Given the description of an element on the screen output the (x, y) to click on. 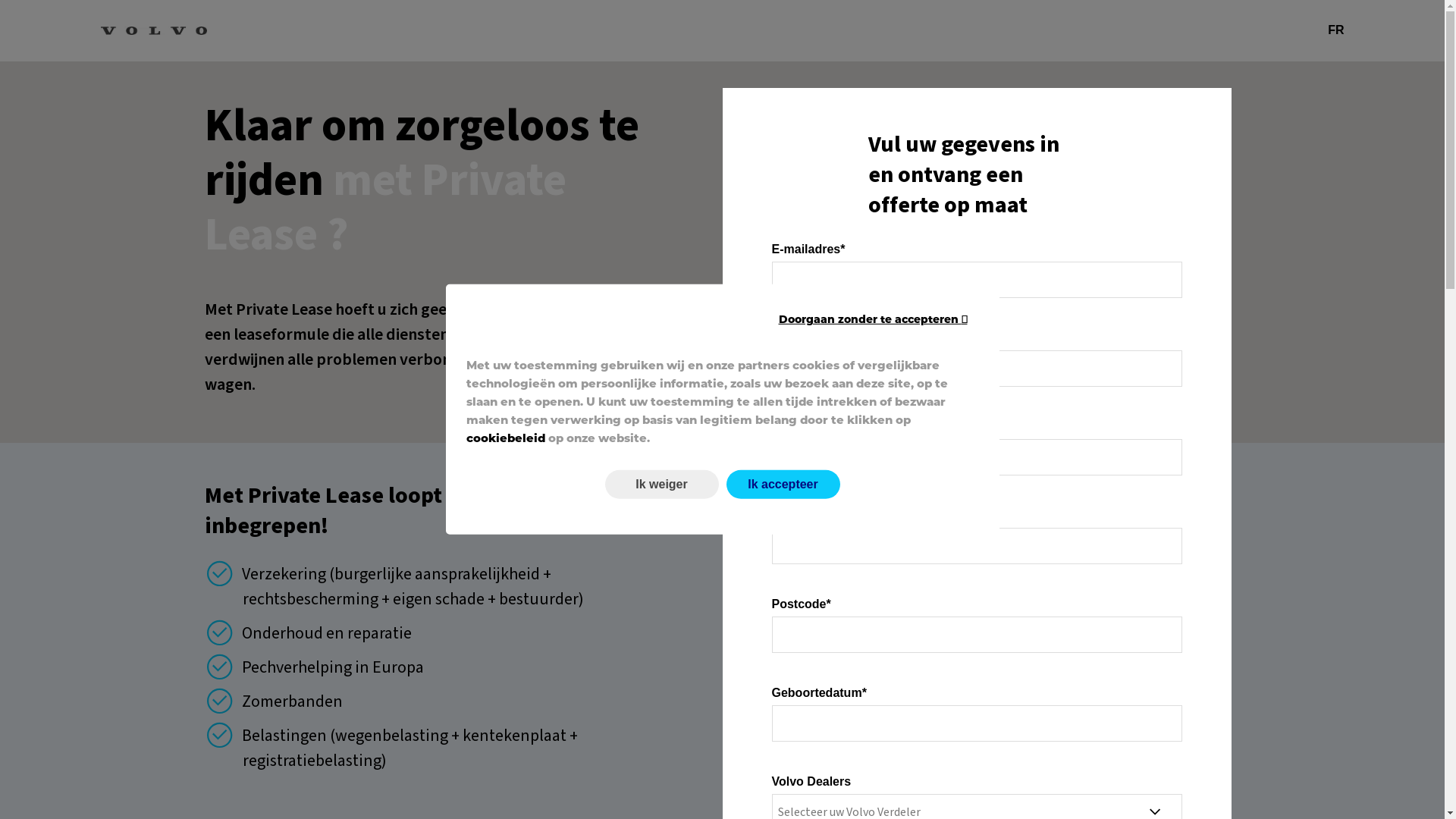
FR Element type: text (1335, 30)
Ik weiger Element type: text (661, 484)
Ik accepteer Element type: text (783, 484)
cookiebeleid Element type: text (506, 437)
